Given the description of an element on the screen output the (x, y) to click on. 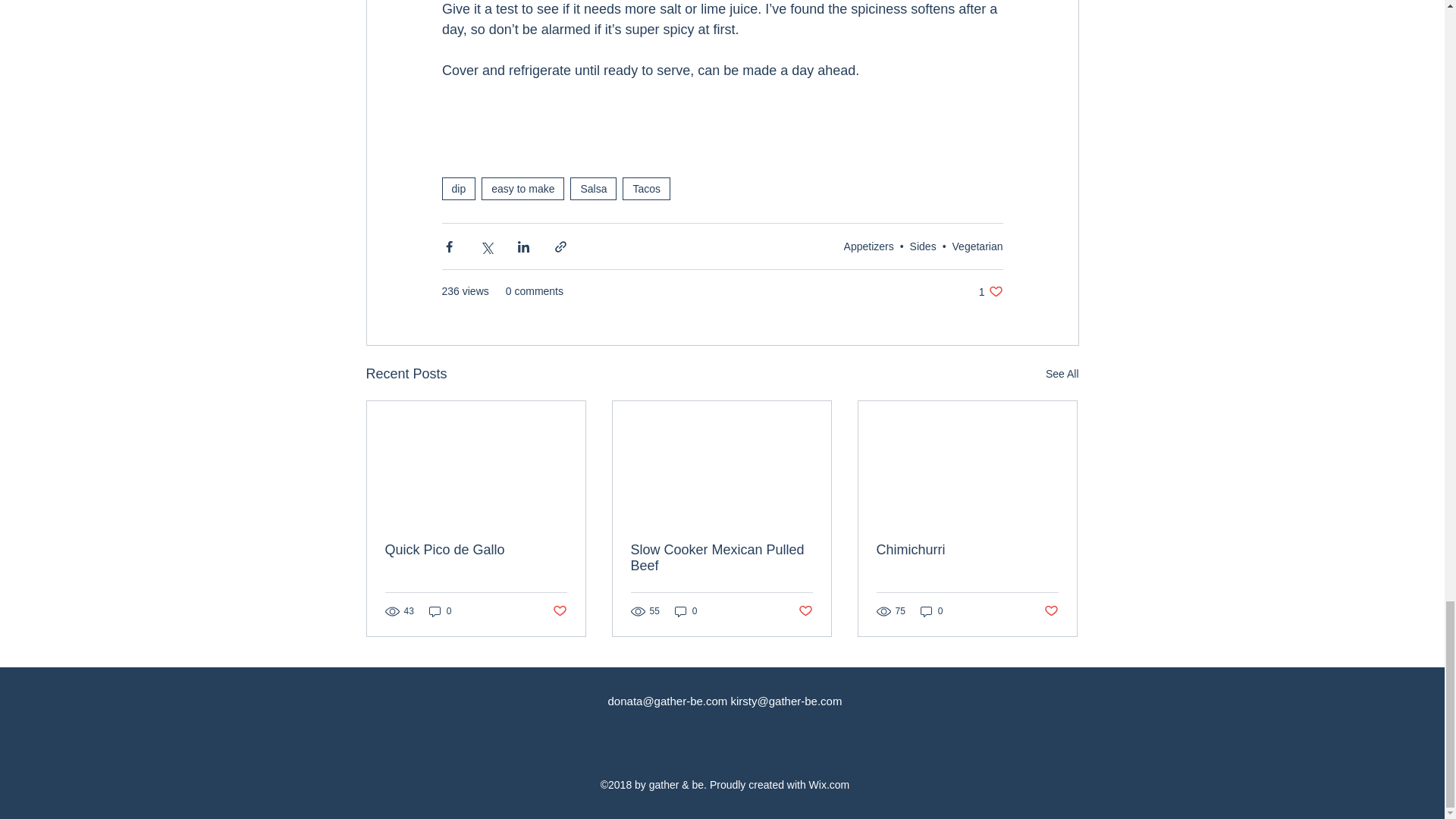
easy to make (522, 188)
Tacos (646, 188)
dip (458, 188)
Salsa (592, 188)
